Given the description of an element on the screen output the (x, y) to click on. 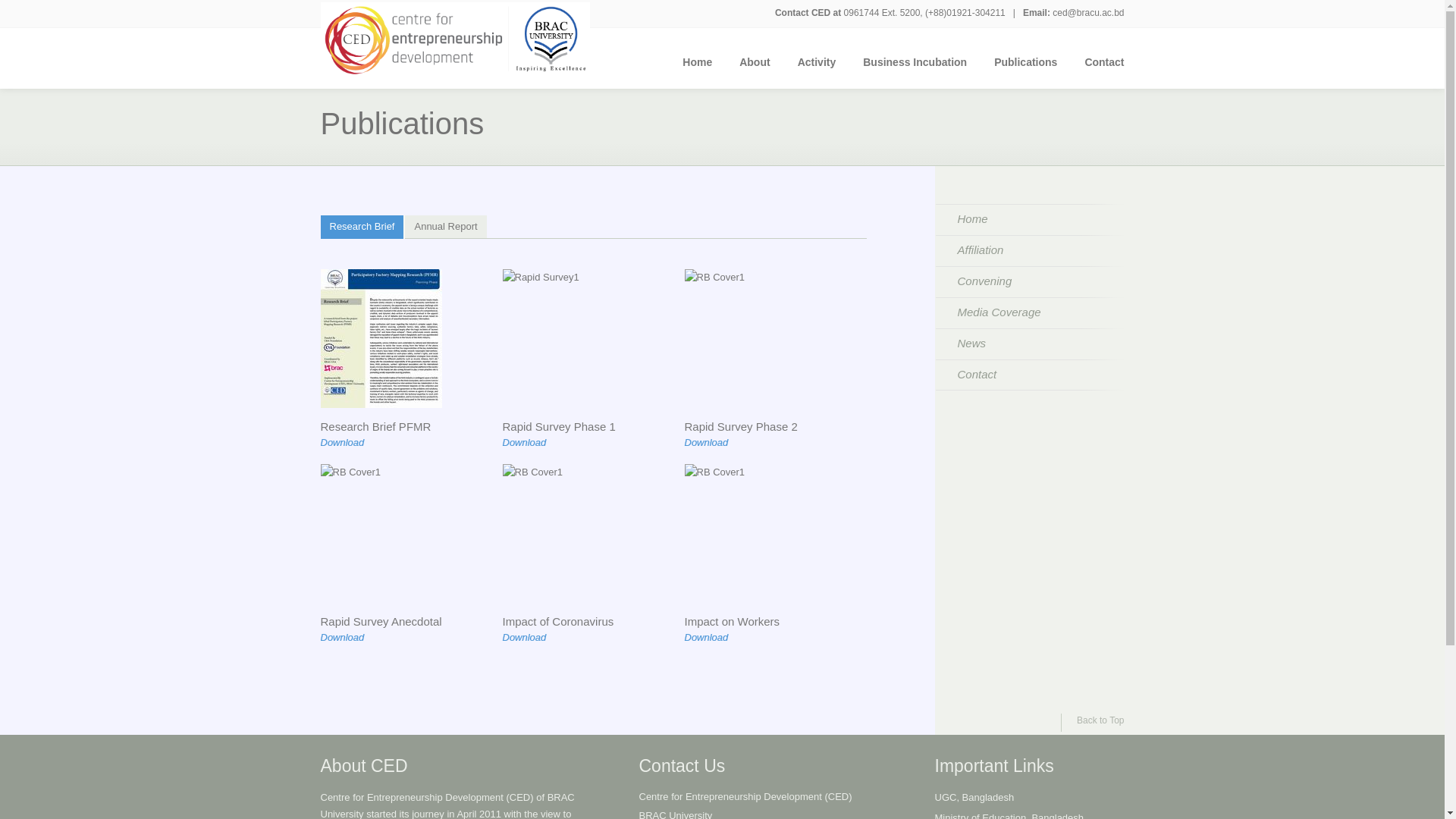
Publications Element type: text (1025, 69)
Home Element type: text (696, 69)
Contact Element type: text (1029, 374)
Download Element type: text (349, 443)
Business Incubation Element type: text (914, 69)
Download Element type: text (349, 638)
Affiliation Element type: text (1029, 250)
Convening Element type: text (1029, 281)
Download Element type: text (713, 638)
Download Element type: text (531, 443)
Activity Element type: text (817, 69)
Contact Element type: text (1096, 69)
Media Coverage Element type: text (1029, 312)
UGC, Bangladesh Element type: text (973, 797)
Annual Report Element type: text (445, 226)
Download Element type: text (531, 638)
About Element type: text (754, 69)
Home Element type: text (1029, 219)
Research Brief Element type: text (361, 226)
Download Element type: text (713, 443)
News Element type: text (1029, 343)
